Given the description of an element on the screen output the (x, y) to click on. 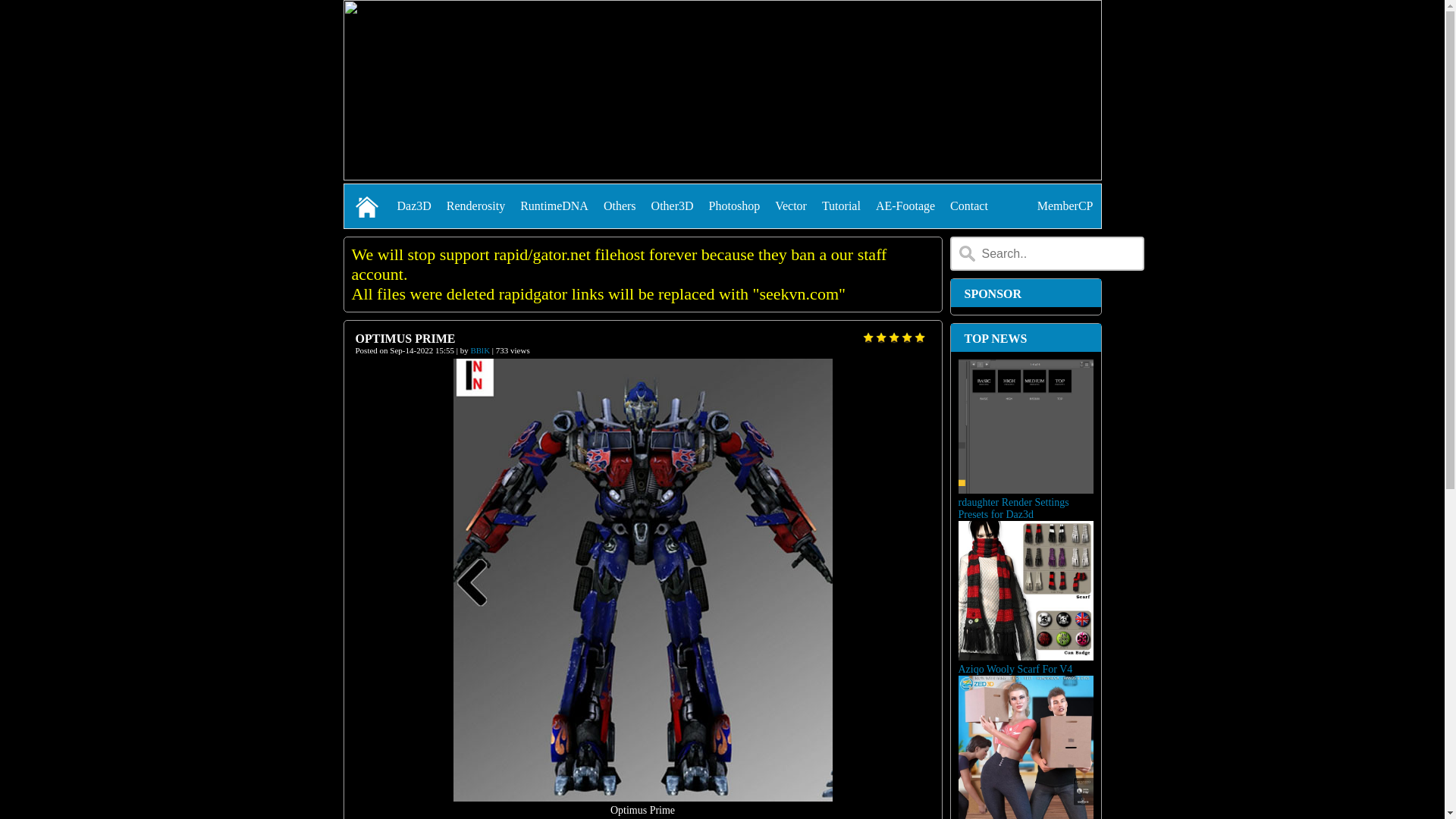
Others Element type: text (619, 206)
Vector Element type: text (790, 206)
MemberCP Element type: text (1065, 206)
Daz3D Element type: text (414, 206)
Renderosity Element type: text (475, 206)
Photoshop Element type: text (734, 206)
1 Element type: text (867, 338)
2 Element type: text (881, 338)
Other3D Element type: text (672, 206)
3 Element type: text (893, 338)
BBlK Element type: text (479, 349)
RuntimeDNA Element type: text (554, 206)
5 Element type: text (919, 338)
AE-Footage Element type: text (905, 206)
4 Element type: text (906, 338)
Contact Element type: text (968, 206)
Tutorial Element type: text (841, 206)
rdaughter Render Settings Presets for Daz3d Element type: text (1025, 573)
